Given the description of an element on the screen output the (x, y) to click on. 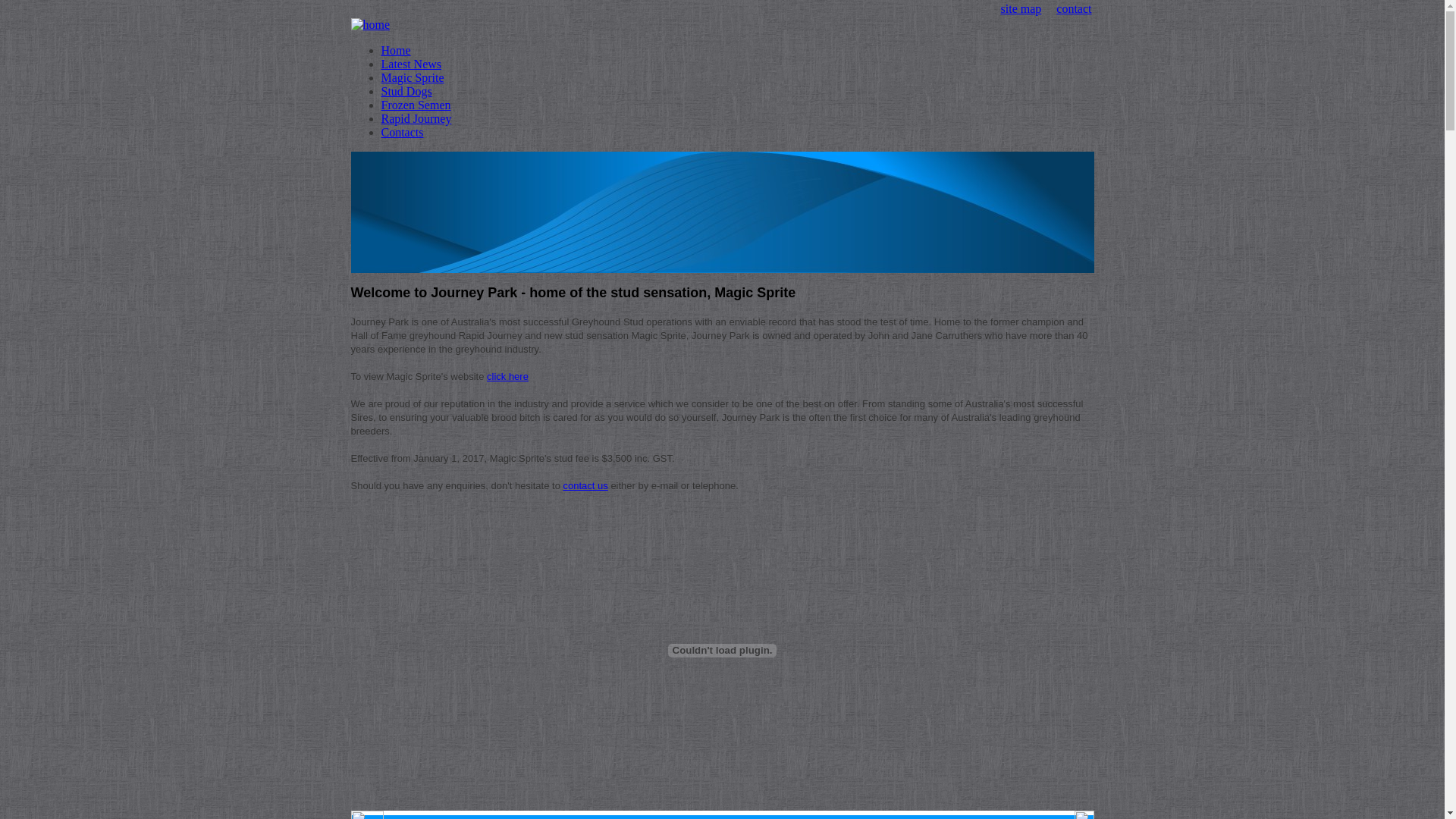
contact us Element type: text (585, 485)
click here Element type: text (507, 376)
Latest News Element type: text (410, 63)
Rapid Journey Element type: text (415, 118)
site map Element type: text (1021, 8)
Frozen Semen Element type: text (415, 104)
Stud Dogs Element type: text (405, 90)
Home Element type: text (395, 49)
Magic Sprite Element type: text (411, 77)
Contacts Element type: text (401, 131)
contact Element type: text (1073, 8)
